Given the description of an element on the screen output the (x, y) to click on. 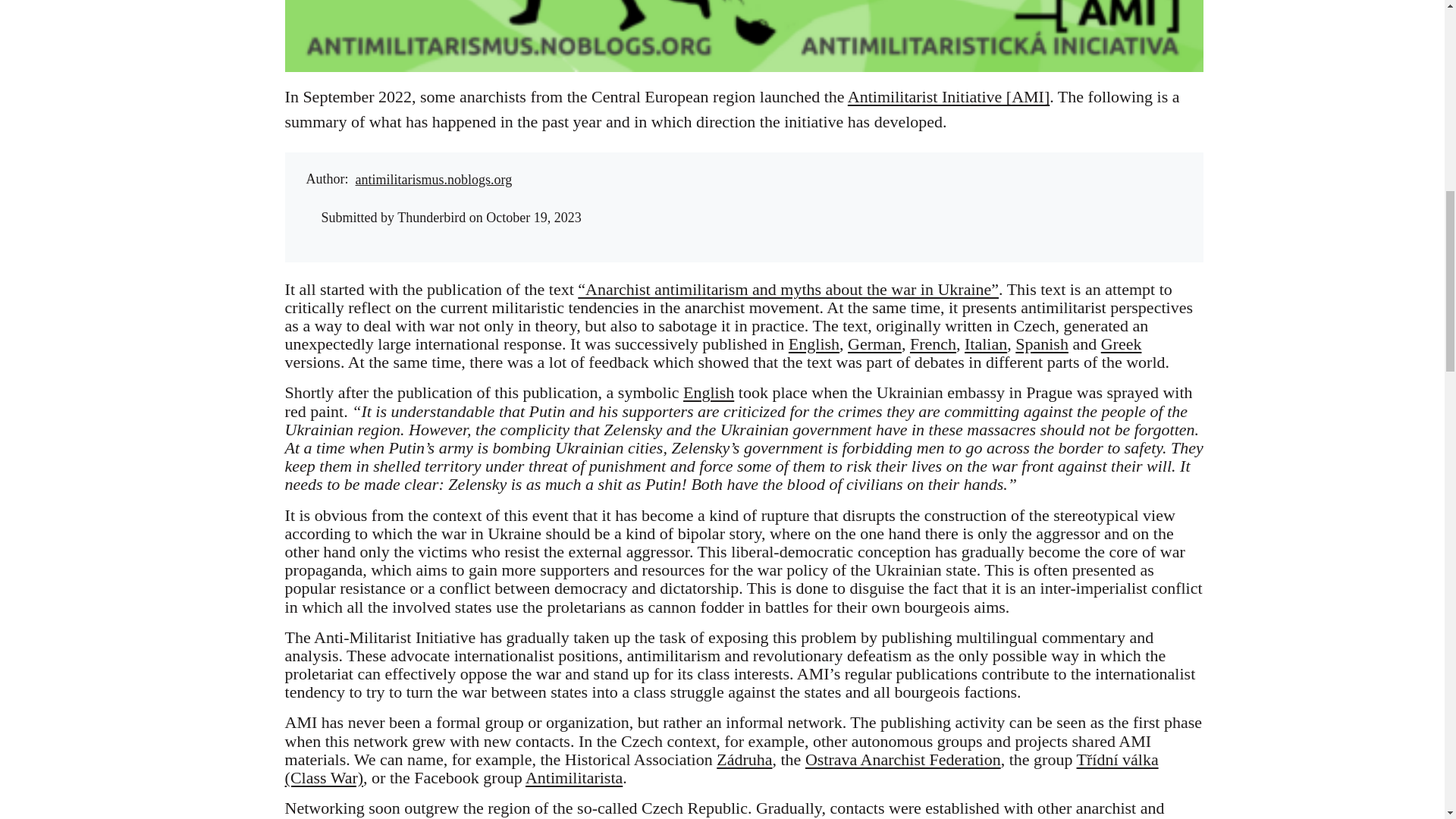
antimilitarismus.noblogs.org (433, 178)
English (814, 343)
Share to Reddit (975, 181)
Ostrava Anarchist Federation (903, 759)
Greek (1120, 343)
French (933, 343)
Spanish (1041, 343)
Share to Facebook (914, 181)
Share to Twitter (945, 181)
Antimilitarista (574, 777)
English (707, 392)
German (874, 343)
Italian (985, 343)
